Given the description of an element on the screen output the (x, y) to click on. 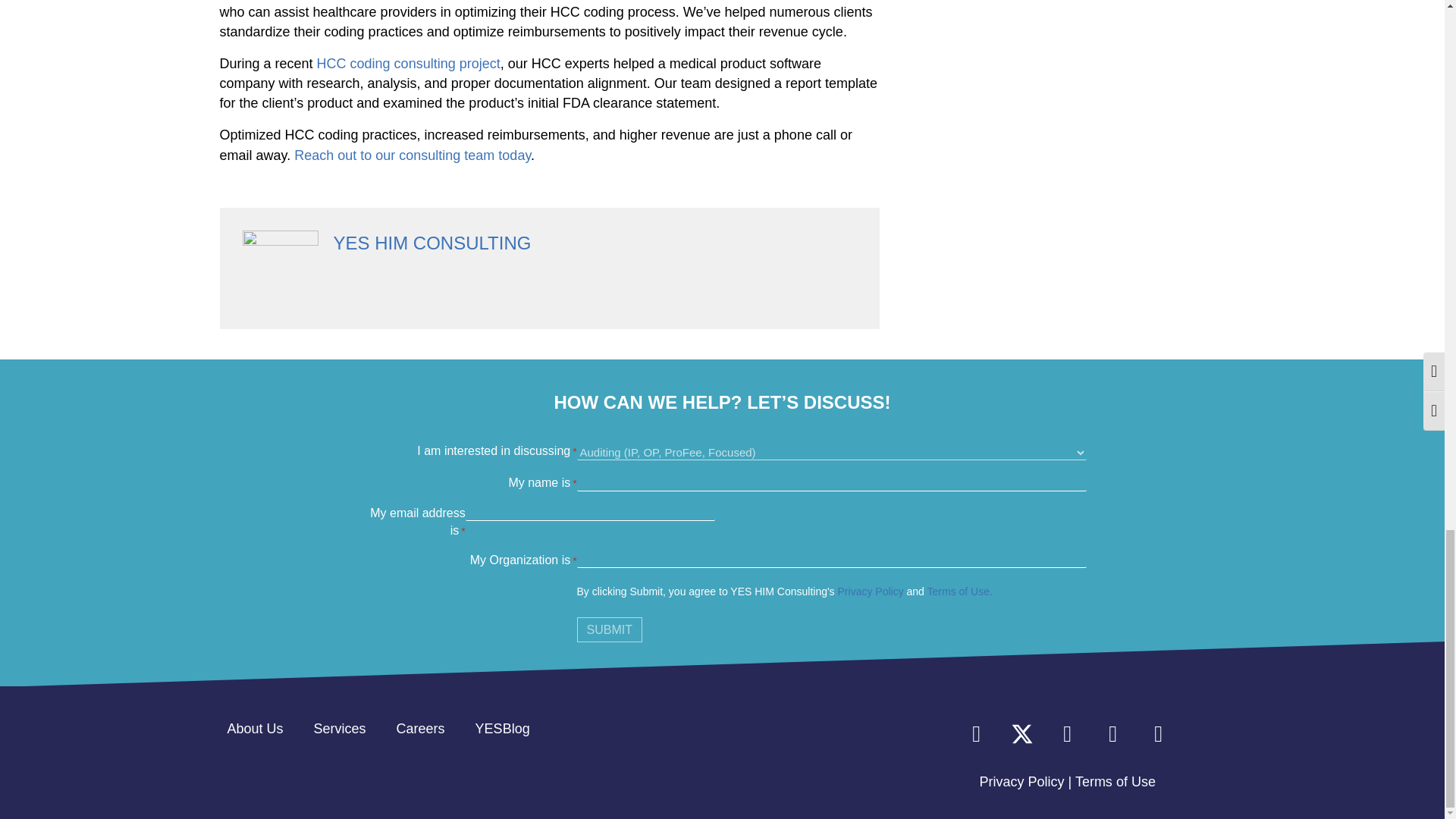
HCC coding consulting project (408, 63)
Submit (609, 629)
Reach out to our consulting team today (412, 155)
